Given the description of an element on the screen output the (x, y) to click on. 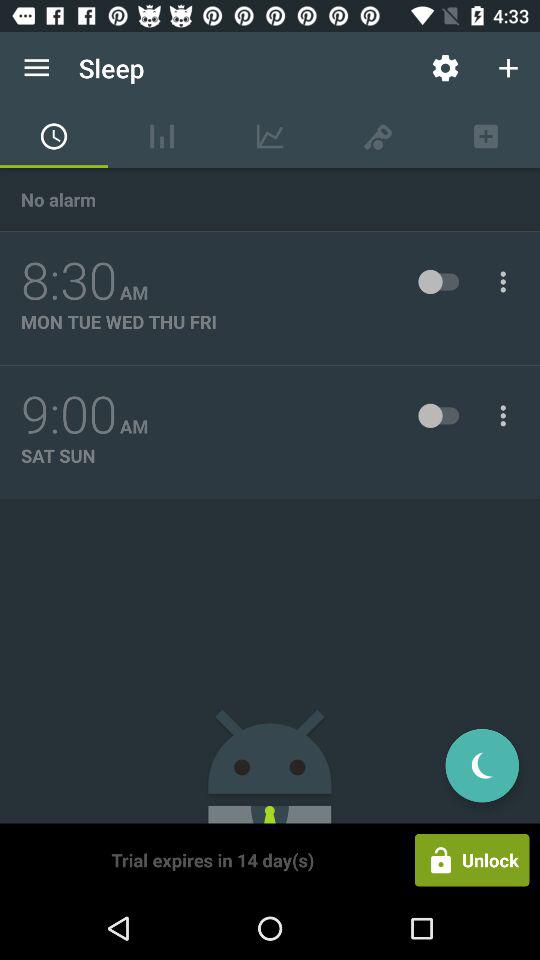
click app to the right of the sleep item (444, 67)
